Given the description of an element on the screen output the (x, y) to click on. 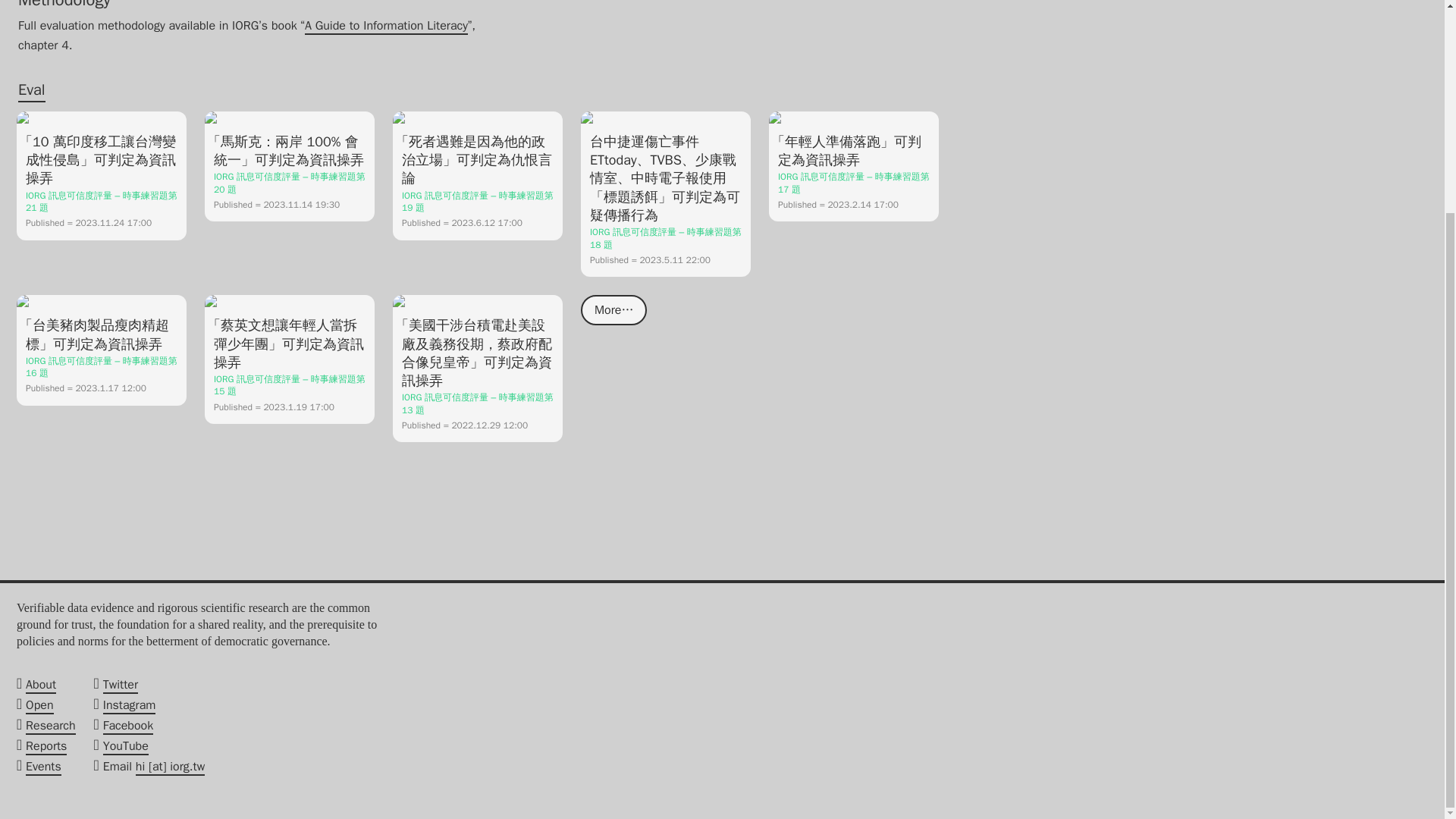
Reports (46, 746)
Open (39, 705)
Research (50, 726)
Twitter (120, 685)
About (41, 685)
Events (43, 767)
Instagram (129, 705)
A Guide to Information Literacy (385, 26)
Facebook (127, 726)
YouTube (125, 746)
